Given the description of an element on the screen output the (x, y) to click on. 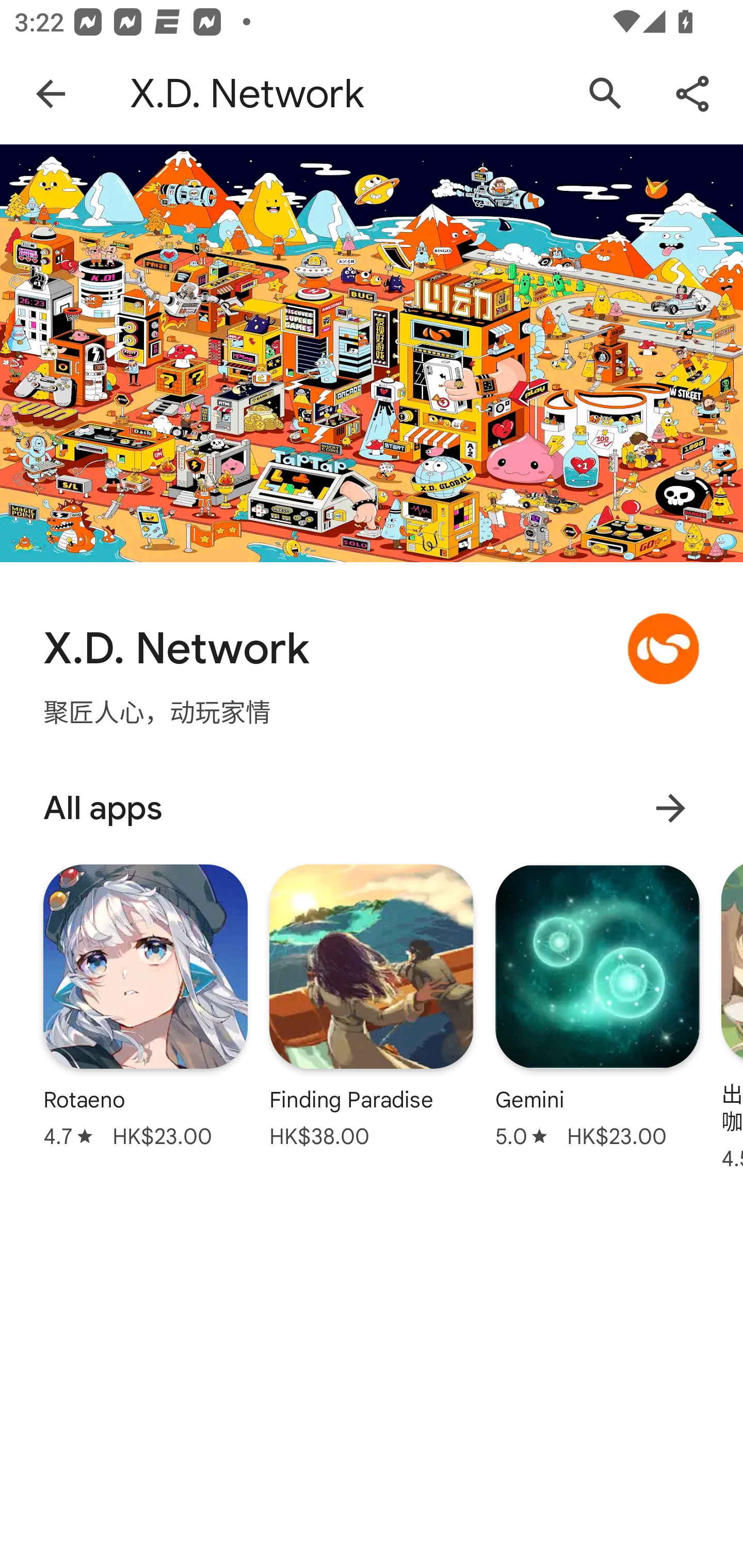
Navigate up (50, 93)
Search Google Play (605, 93)
Share (692, 93)
All apps More results for All apps (371, 808)
More results for All apps (670, 808)
Rotaeno
Star rating: 4.7
HK$23.00
 (145, 1005)
Finding Paradise
HK$38.00
 (371, 1005)
Gemini
Star rating: 5.0
HK$23.00
 (597, 1005)
